Given the description of an element on the screen output the (x, y) to click on. 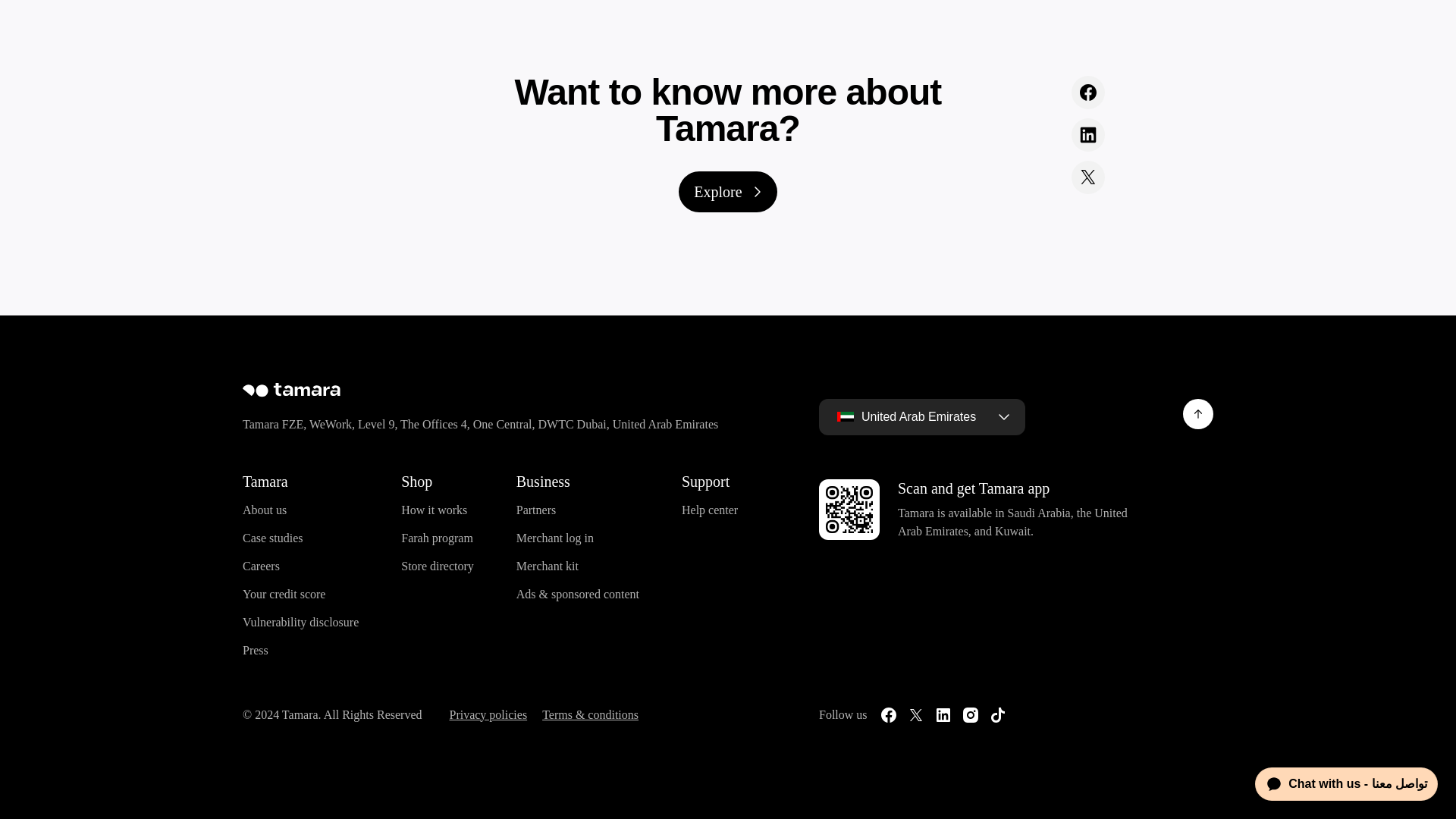
Vulnerability disclosure (300, 622)
Careers (261, 566)
Explore (727, 191)
United Arab Emirates (921, 416)
About us (264, 510)
Case studies (272, 538)
How it works (434, 510)
Farah program (437, 538)
Your credit score (283, 594)
Press (255, 650)
